Given the description of an element on the screen output the (x, y) to click on. 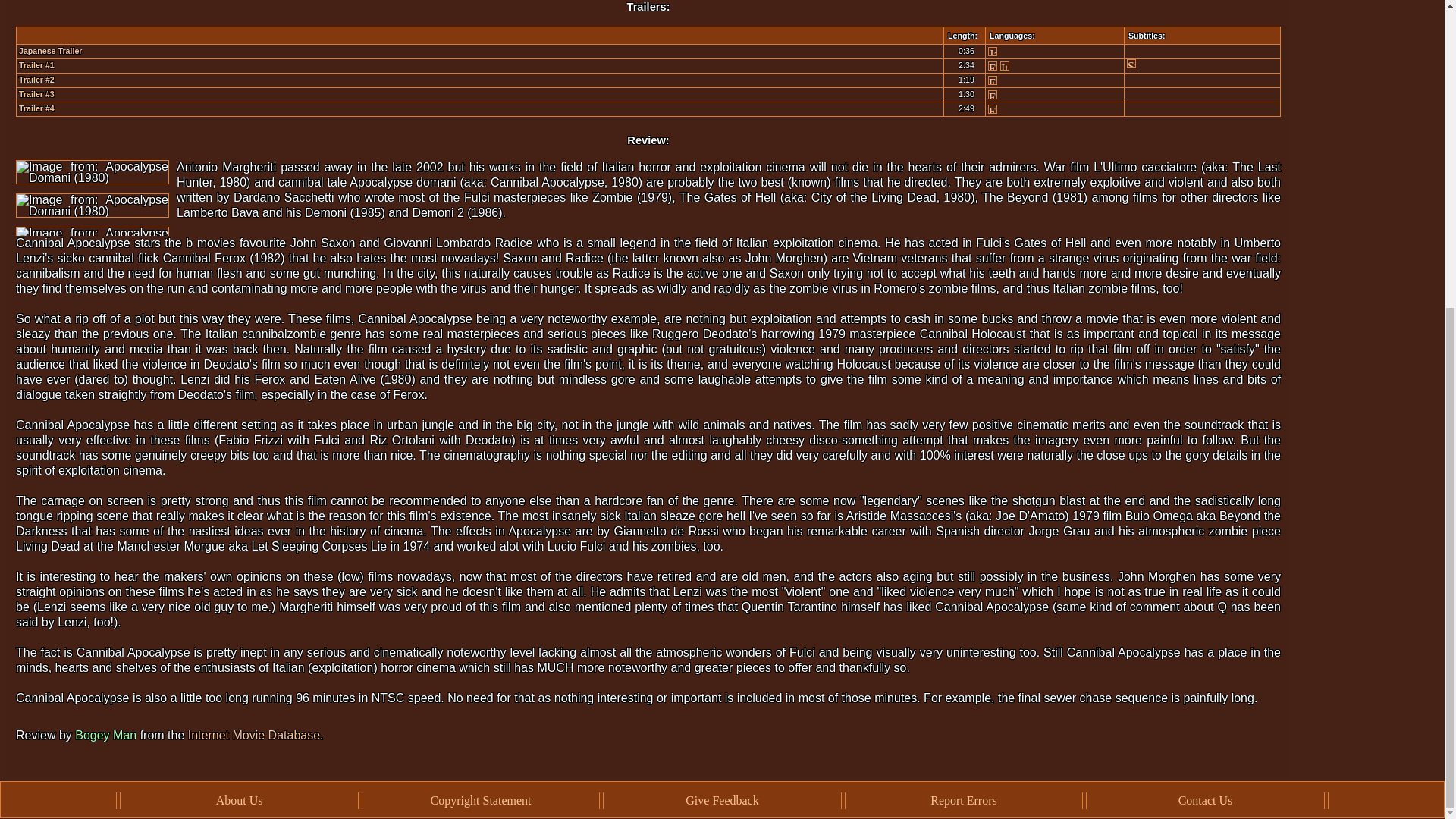
Japanese Trailer (50, 50)
Japanese (992, 51)
Spanish (1130, 62)
English (992, 108)
English (992, 65)
English (992, 94)
Internet Movie Database (253, 735)
Italian (1004, 65)
English (992, 80)
